Given the description of an element on the screen output the (x, y) to click on. 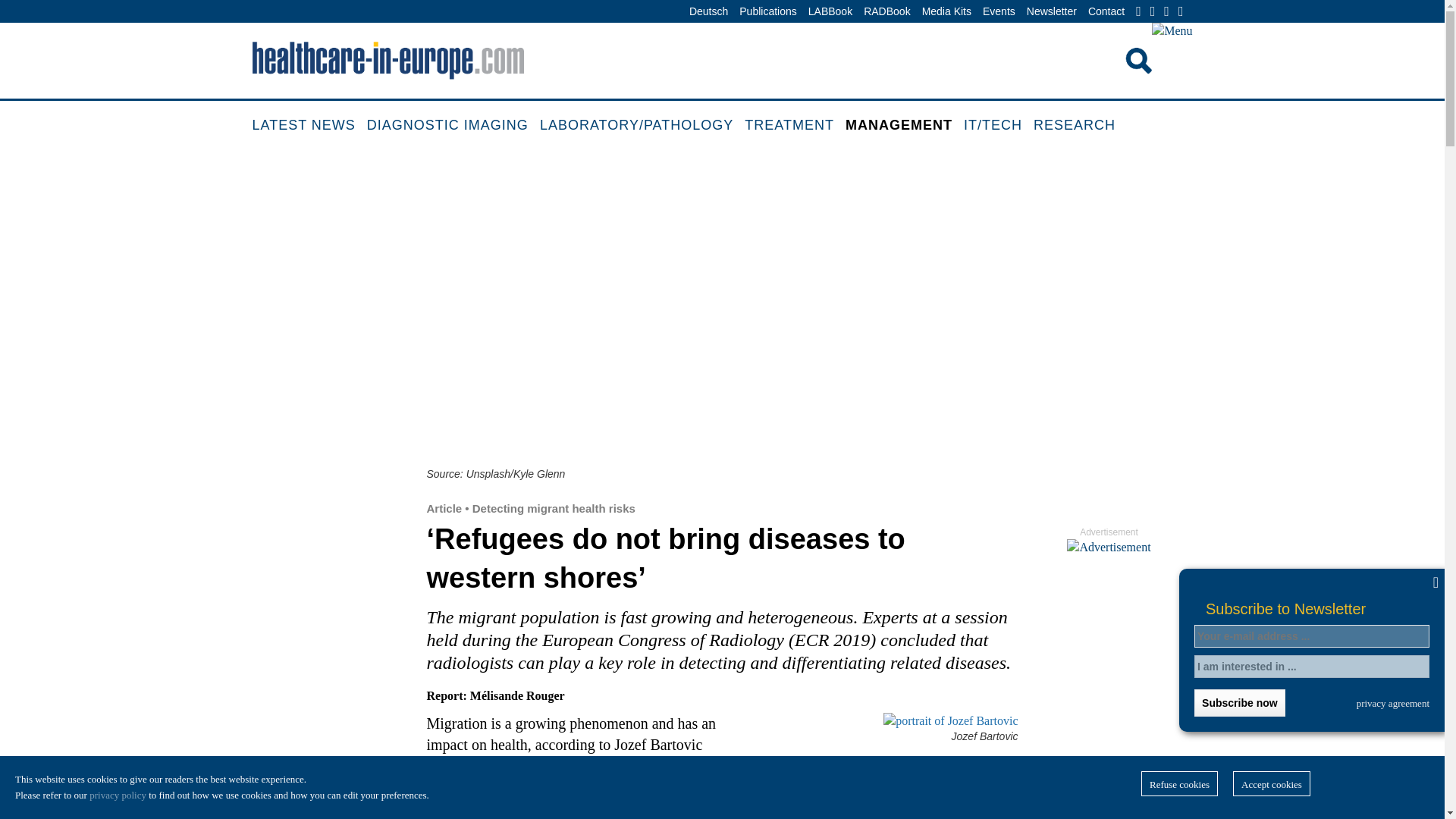
Events (998, 12)
Contact (1106, 12)
LATEST NEWS (308, 126)
DIAGNOSTIC IMAGING (453, 126)
MANAGEMENT (904, 126)
Media Kits (946, 12)
LABBook (830, 12)
Jozef Bartovic (880, 720)
Deutsch (708, 12)
TREATMENT (794, 126)
